Given the description of an element on the screen output the (x, y) to click on. 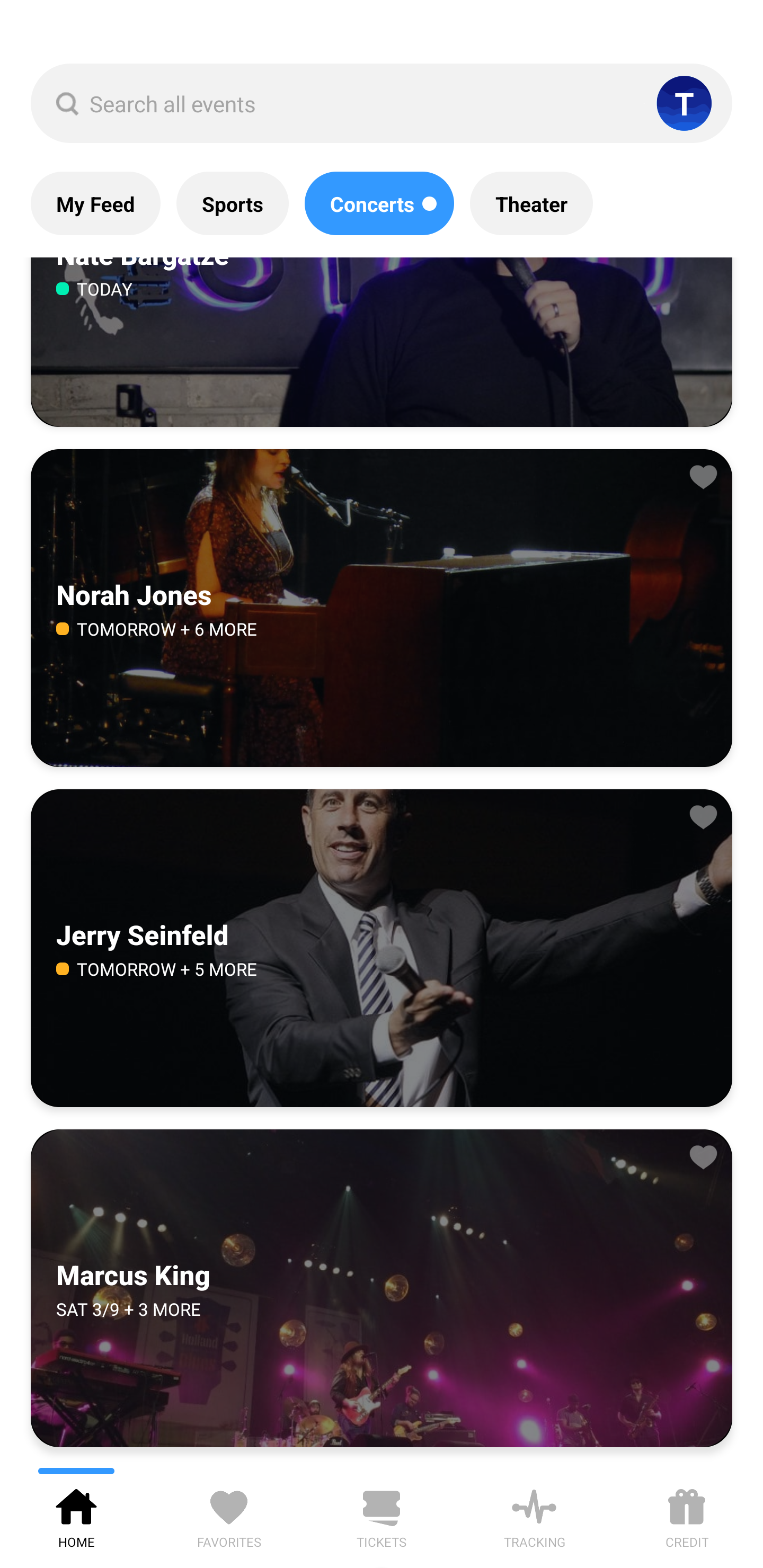
Search all events (381, 103)
T (683, 102)
My Feed (95, 202)
Sports (232, 202)
Concerts (378, 202)
Theater (531, 202)
HOME (76, 1515)
FAVORITES (228, 1515)
TICKETS (381, 1515)
TRACKING (533, 1515)
CREDIT (686, 1515)
